Given the description of an element on the screen output the (x, y) to click on. 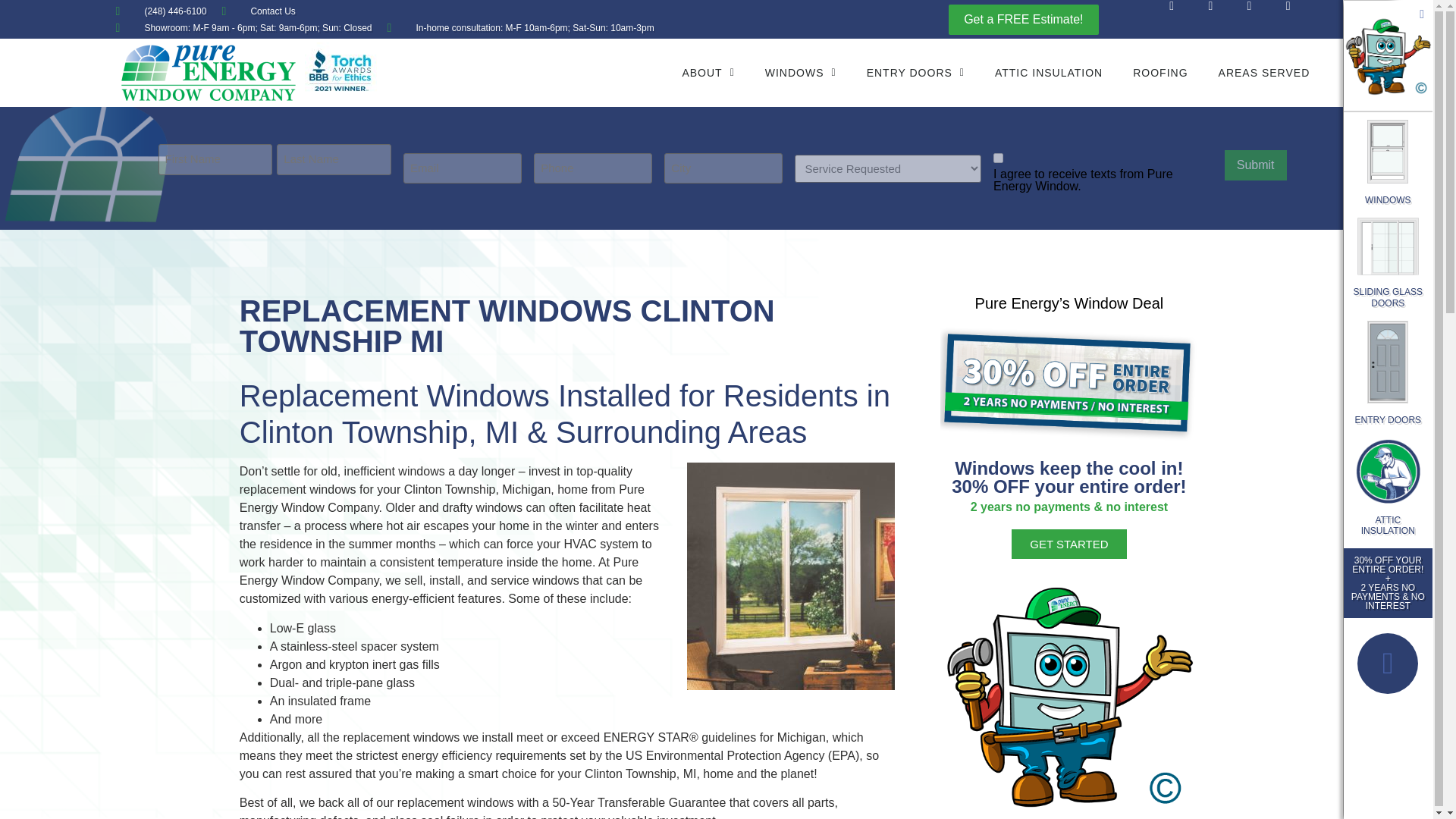
In-home consultation: M-F 10am-6pm; Sat-Sun: 10am-3pm (520, 28)
Replacement Windows Clinton Township MI (791, 576)
1 (997, 157)
Contact Us (258, 11)
WINDOWS (800, 72)
Showroom: M-F 9am - 6pm; Sat: 9am-6pm; Sun: Closed (243, 28)
pure-energy-window-logo-transparent.png (208, 72)
Submit (1255, 164)
ABOUT (707, 72)
Get a FREE Estimate! (1023, 19)
